Given the description of an element on the screen output the (x, y) to click on. 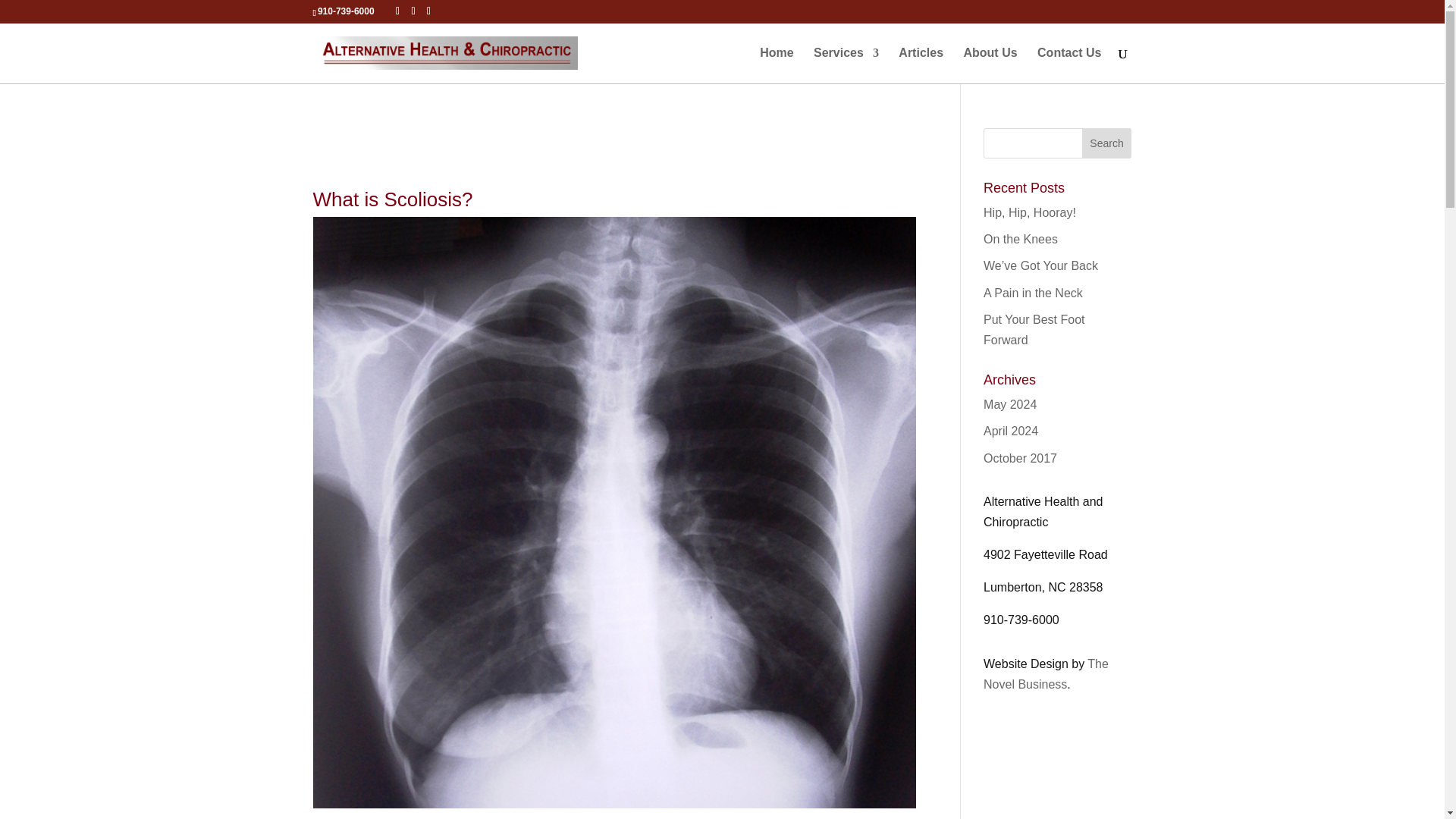
October 2017 (1020, 458)
Home (776, 65)
Put Your Best Foot Forward (1034, 329)
May 2024 (1010, 404)
The Novel Business (1046, 674)
About Us (989, 65)
Articles (920, 65)
April 2024 (1011, 431)
A Pain in the Neck (1033, 292)
Search (1106, 142)
Search (1106, 142)
Contact Us (1068, 65)
Hip, Hip, Hooray! (1029, 212)
Services (846, 65)
